Given the description of an element on the screen output the (x, y) to click on. 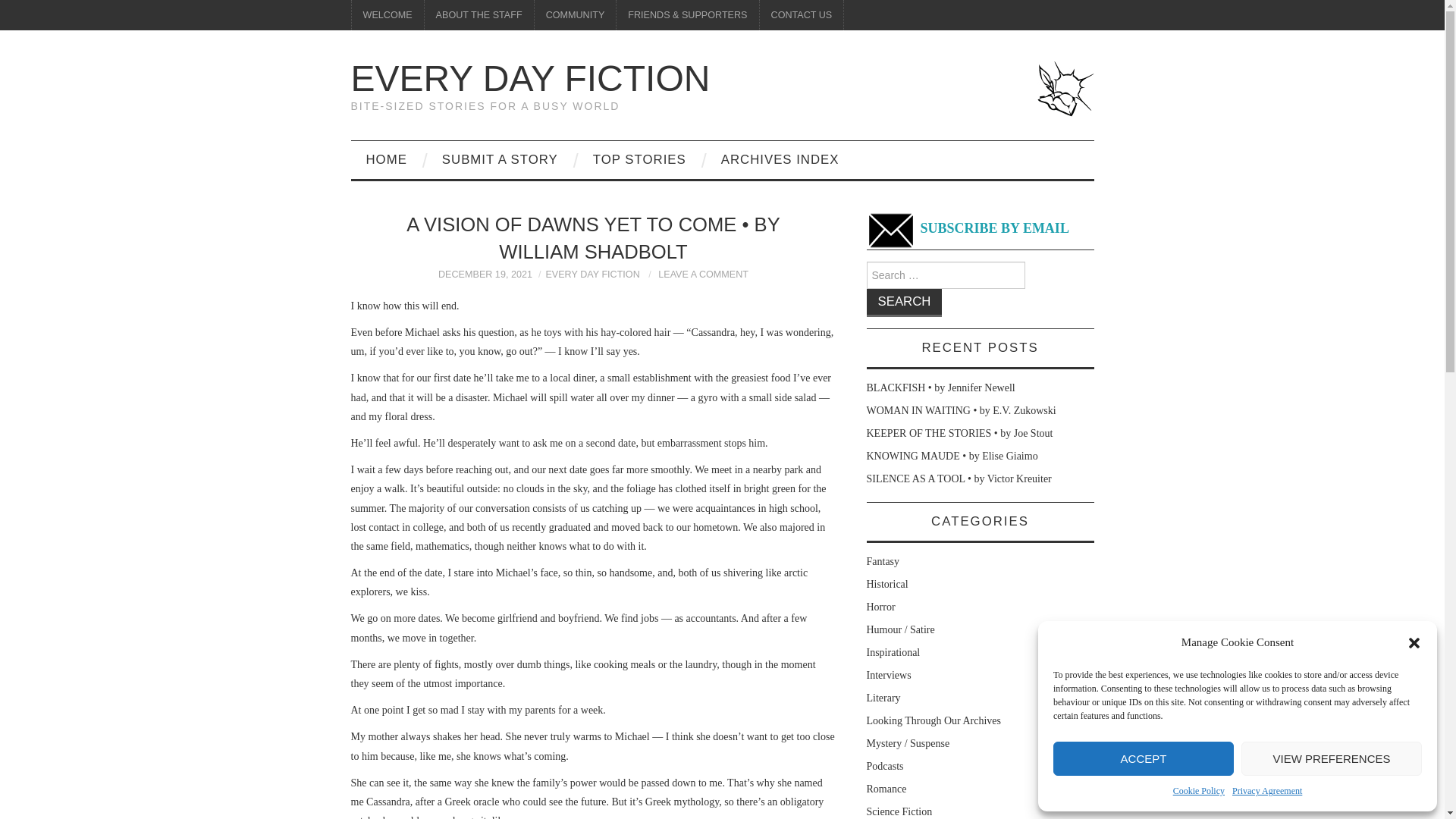
SUBMIT A STORY (499, 159)
ACCEPT (1142, 758)
LEAVE A COMMENT (703, 274)
EVERY DAY FICTION (591, 274)
Search for: (945, 275)
Search (904, 302)
Search (904, 302)
COMMUNITY (574, 15)
CONTACT US (802, 15)
Cookie Policy (1198, 791)
DECEMBER 19, 2021 (485, 274)
ARCHIVES INDEX (780, 159)
TOP STORIES (639, 159)
Privacy Agreement (1266, 791)
EVERY DAY FICTION (530, 78)
